Given the description of an element on the screen output the (x, y) to click on. 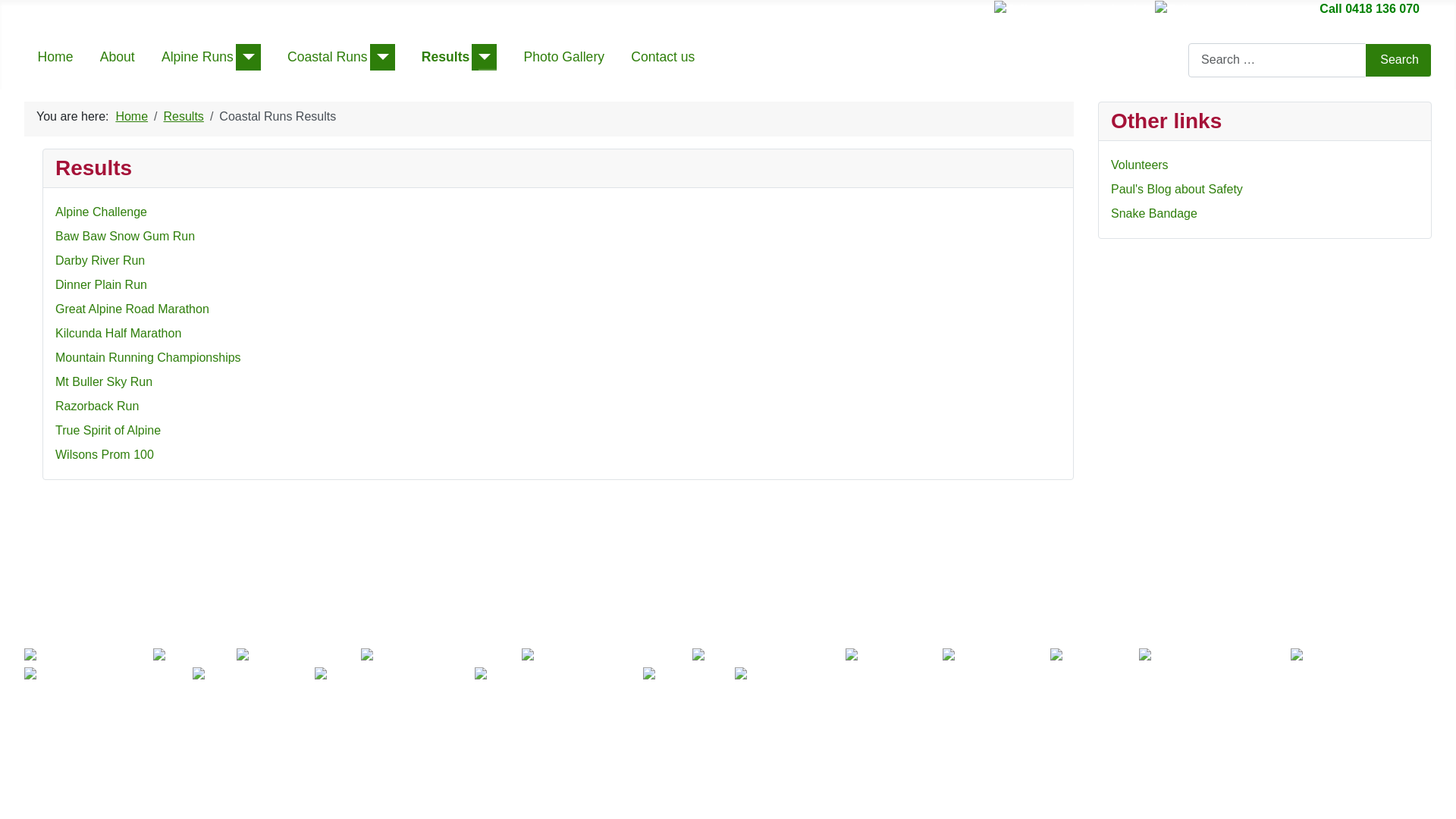
Darby River Run Element type: text (99, 260)
Home Element type: text (131, 115)
Mt Hotham Alpine Resort Element type: hover (392, 674)
Baw Baw Snow Gum Run Element type: text (124, 235)
Great Alpine Road Marathon Element type: text (132, 308)
Alpine Runs Element type: text (197, 56)
Mountain Running Championships Element type: text (148, 357)
Volunteers Element type: text (1139, 164)
Home Element type: text (55, 56)
About Element type: text (117, 56)
Bogong Equipment Element type: hover (86, 655)
Call 0418 136 070 Element type: text (1367, 8)
Alpine Challenge Element type: text (101, 211)
The Eventurers Element type: hover (993, 655)
Razorback Run Element type: text (96, 405)
True Spirit of Alpine Element type: text (107, 429)
Snake Bandage Element type: text (1153, 213)
Results Element type: text (445, 56)
Hammer Nutrition Element type: hover (293, 655)
Results Element type: text (183, 115)
St Falls Resort Falls Creek Element type: hover (604, 655)
Paul's Blog about Safety Element type: text (1176, 188)
Photo Gallery Element type: text (563, 56)
Coastal Runs Element type: text (327, 56)
Masters Trekking Poles Element type: hover (1212, 655)
Dinner Plain Run Element type: text (101, 284)
Falls Creek Resort Element type: hover (253, 674)
Contact us Element type: text (662, 56)
Wilsons Prom 100 Element type: text (104, 454)
Kilcunda Half Marathon Element type: text (118, 332)
T8 Performance Clothing Element type: hover (438, 655)
Frueauf Village Element type: hover (891, 655)
La Sportiva Element type: hover (192, 655)
Mt Buller Sky Run Element type: text (103, 381)
Remote Medical Services Element type: hover (774, 674)
Snowline Hotel Harrietville Element type: hover (106, 674)
Aspire to Fitness Element type: hover (688, 674)
Mt Baw Baw Alpine Resort Element type: hover (556, 674)
Search Element type: text (1398, 60)
Wilsons Prom Cruises Element type: hover (1360, 655)
Check out our Instagram Element type: hover (1228, 8)
Follow us on Facebook Element type: hover (1067, 8)
Mund Socks Element type: hover (1091, 655)
Cedarwood Apartments Element type: hover (766, 655)
